Given the description of an element on the screen output the (x, y) to click on. 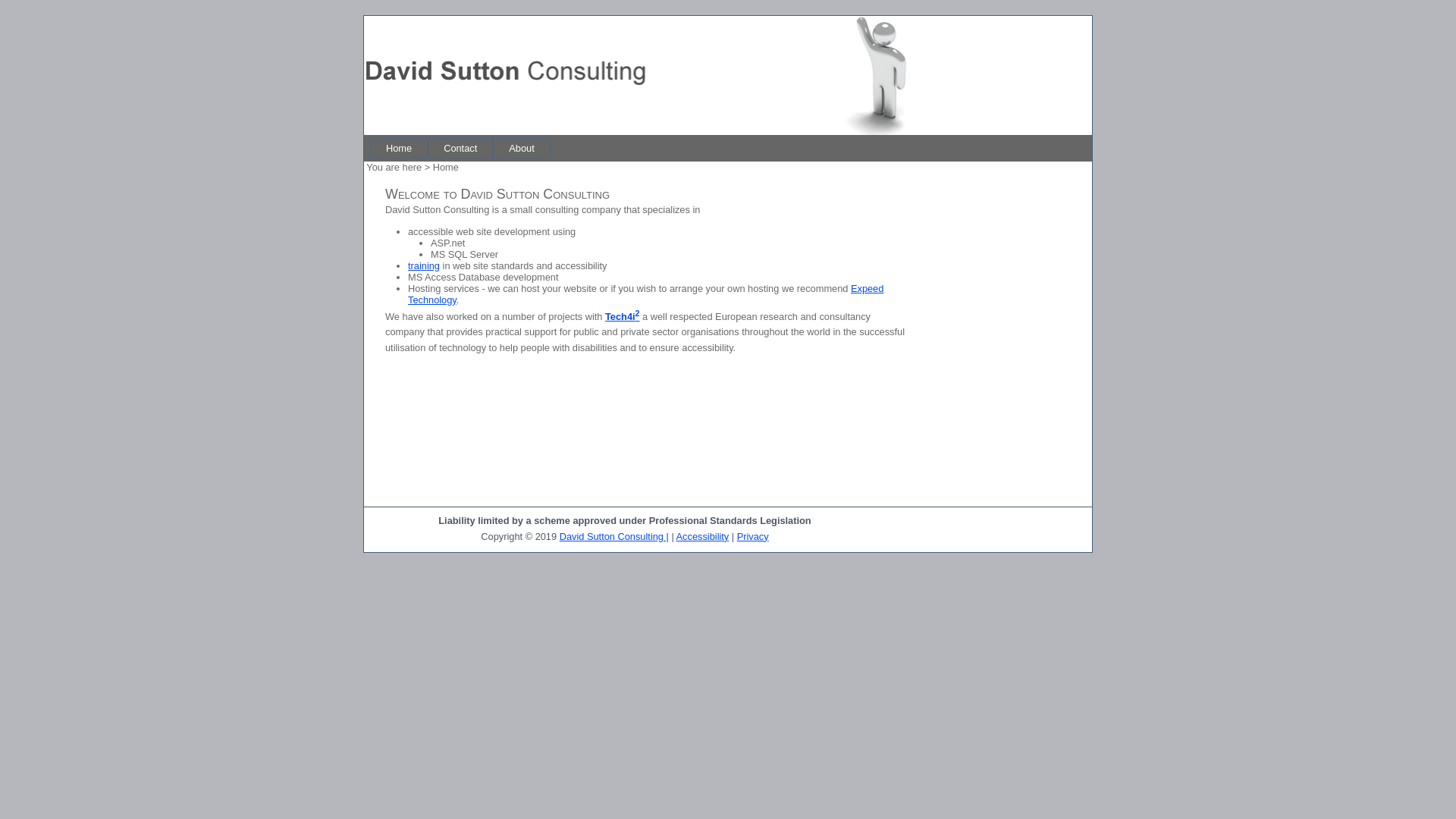
Accessibility Element type: text (702, 536)
David Sutton Consulting | Element type: text (613, 536)
Home Element type: text (398, 148)
Tech4i2 Element type: text (622, 316)
training Element type: text (423, 265)
Contact Element type: text (459, 148)
About Element type: text (520, 148)
Expeed Technology Element type: text (645, 293)
Privacy Element type: text (752, 536)
